Given the description of an element on the screen output the (x, y) to click on. 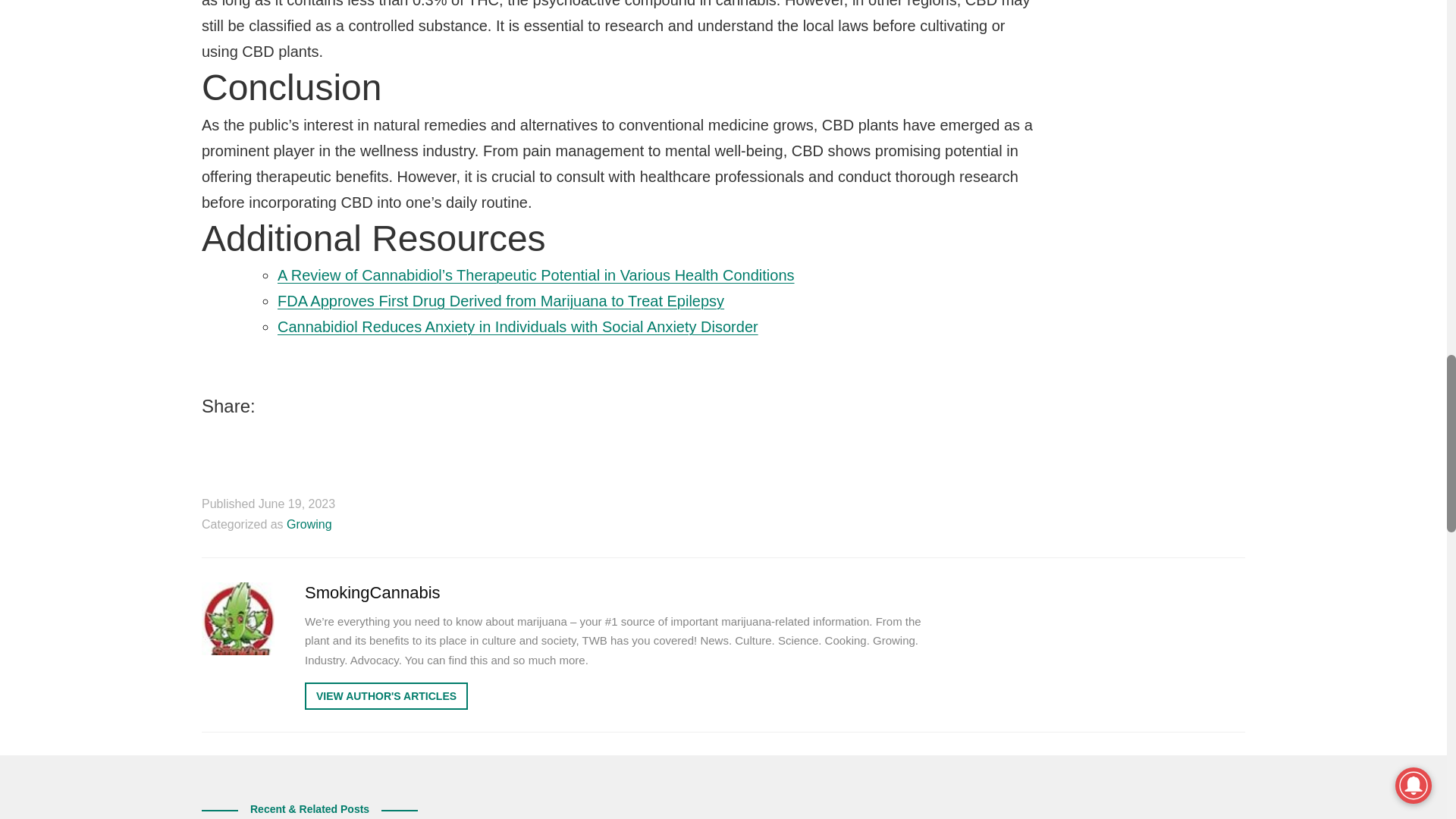
VIEW AUTHOR'S ARTICLES (385, 696)
Growing (308, 523)
